Given the description of an element on the screen output the (x, y) to click on. 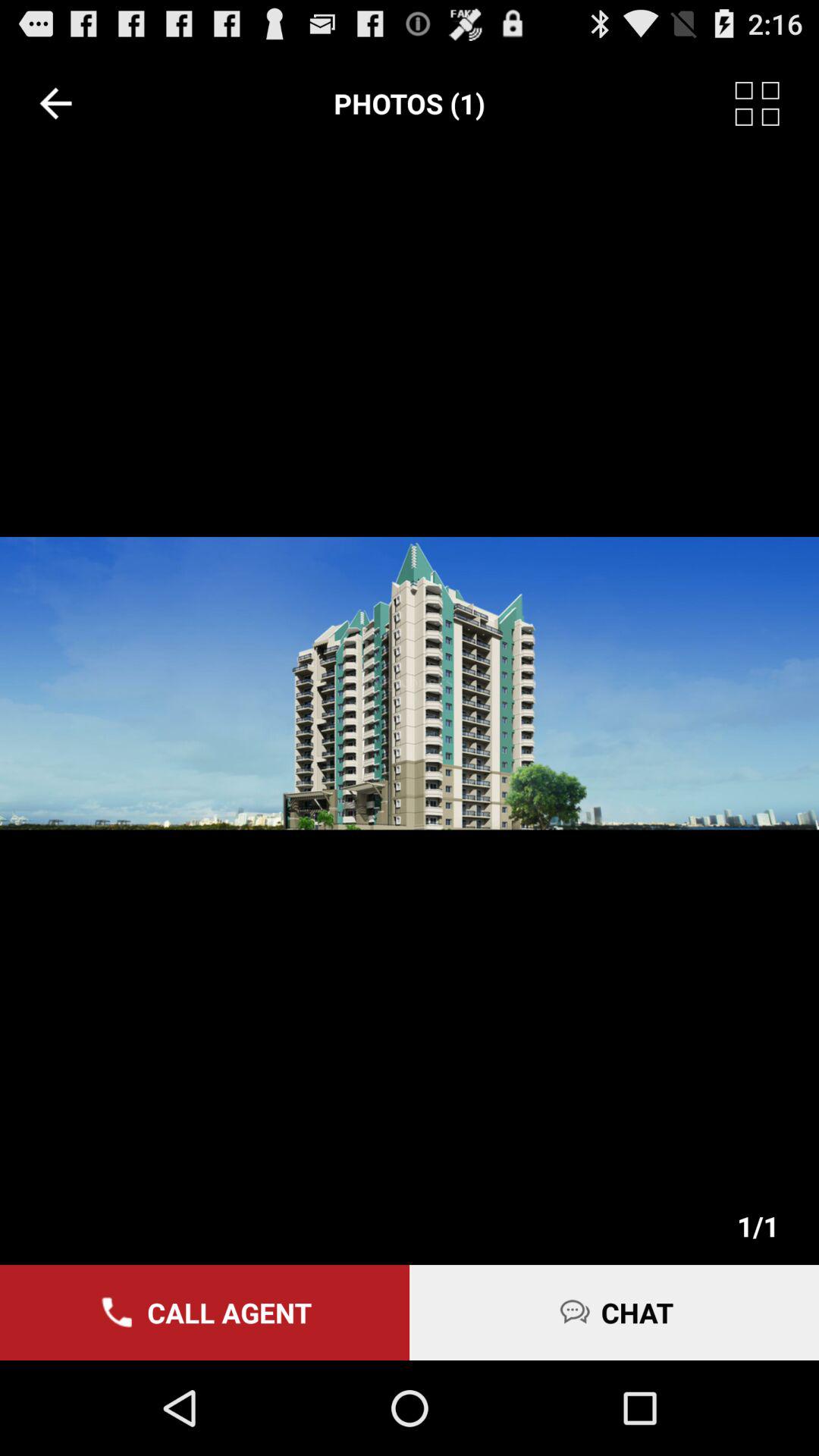
grid view option (777, 103)
